Given the description of an element on the screen output the (x, y) to click on. 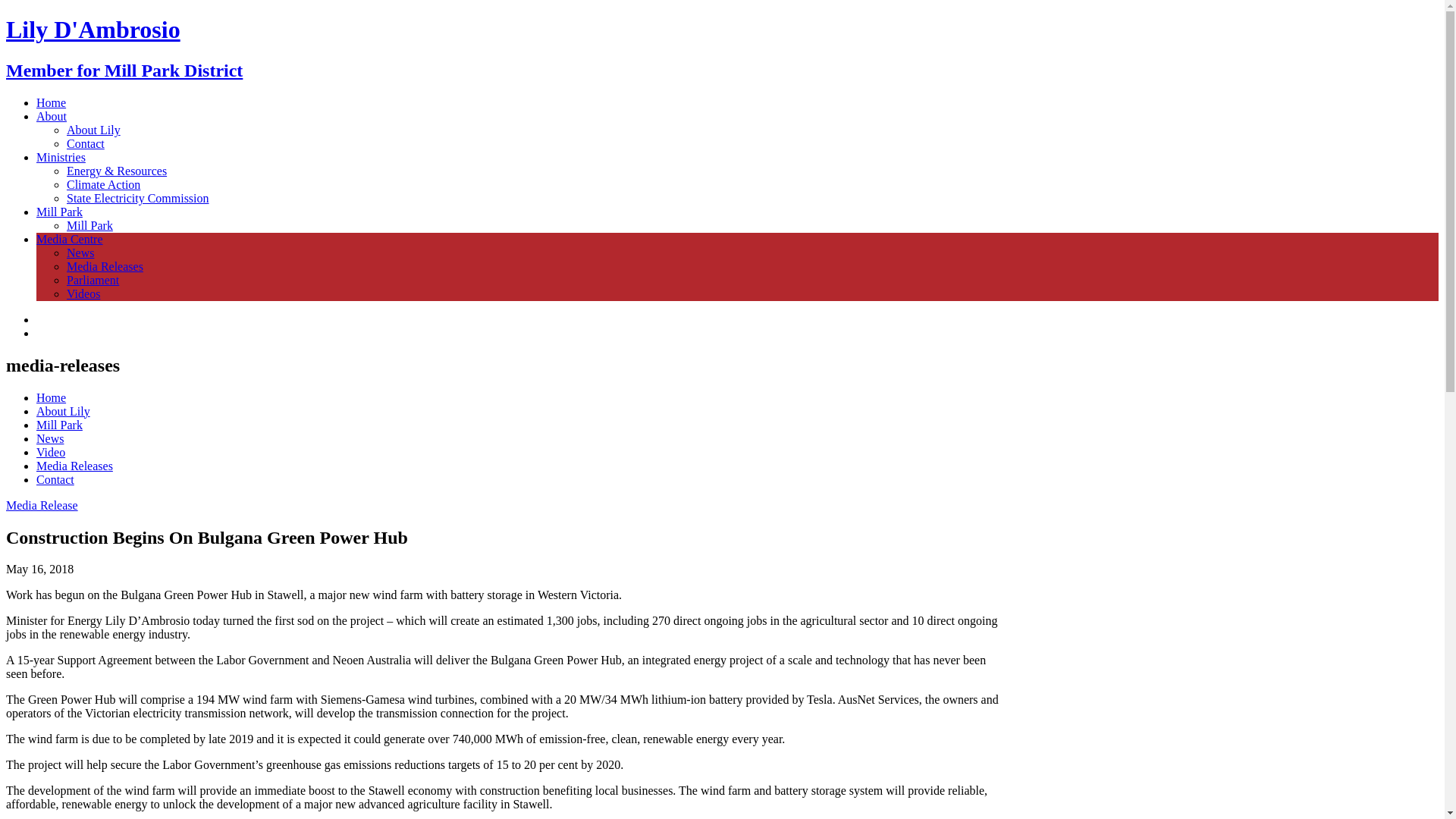
About Element type: text (51, 115)
Media Releases Element type: text (104, 266)
Parliament Element type: text (92, 279)
State Electricity Commission Element type: text (137, 197)
Mill Park Element type: text (59, 211)
Media Releases Element type: text (74, 465)
News Element type: text (80, 252)
Lily D'Ambrosio Element type: text (93, 29)
Video Element type: text (50, 451)
Ministries Element type: text (60, 156)
Home Element type: text (50, 397)
Energy & Resources Element type: text (116, 170)
About Lily Element type: text (93, 129)
Media Release Element type: text (42, 504)
Contact Element type: text (55, 479)
Home Element type: text (50, 102)
Mill Park Element type: text (89, 225)
Member for Mill Park District Element type: text (124, 70)
Media Centre Element type: text (69, 238)
Mill Park Element type: text (59, 424)
About Lily Element type: text (63, 410)
News Element type: text (49, 438)
Videos Element type: text (83, 293)
Climate Action Element type: text (103, 184)
Contact Element type: text (85, 143)
